Given the description of an element on the screen output the (x, y) to click on. 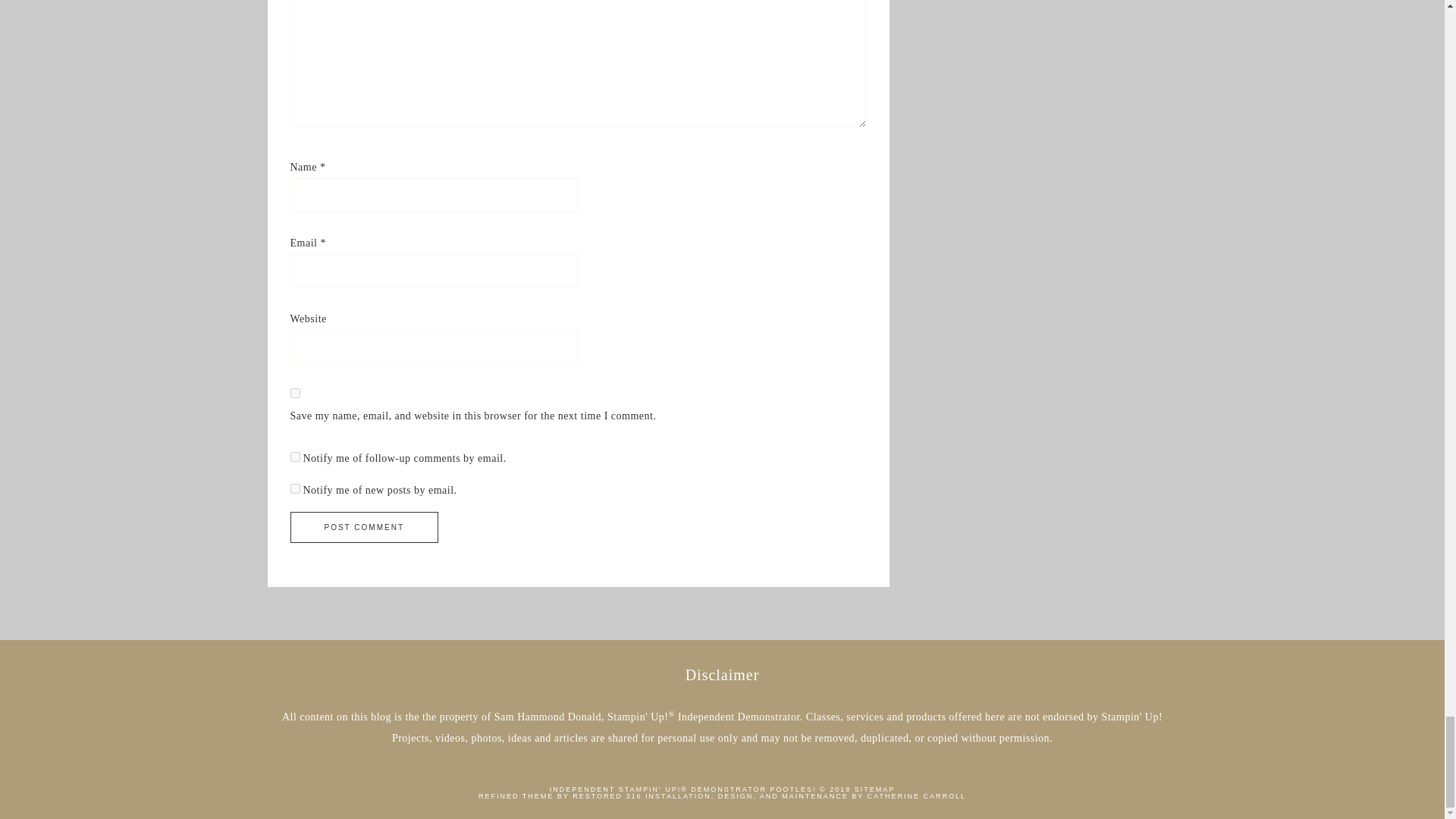
yes (294, 393)
Post Comment (363, 526)
subscribe (294, 488)
subscribe (294, 456)
